Given the description of an element on the screen output the (x, y) to click on. 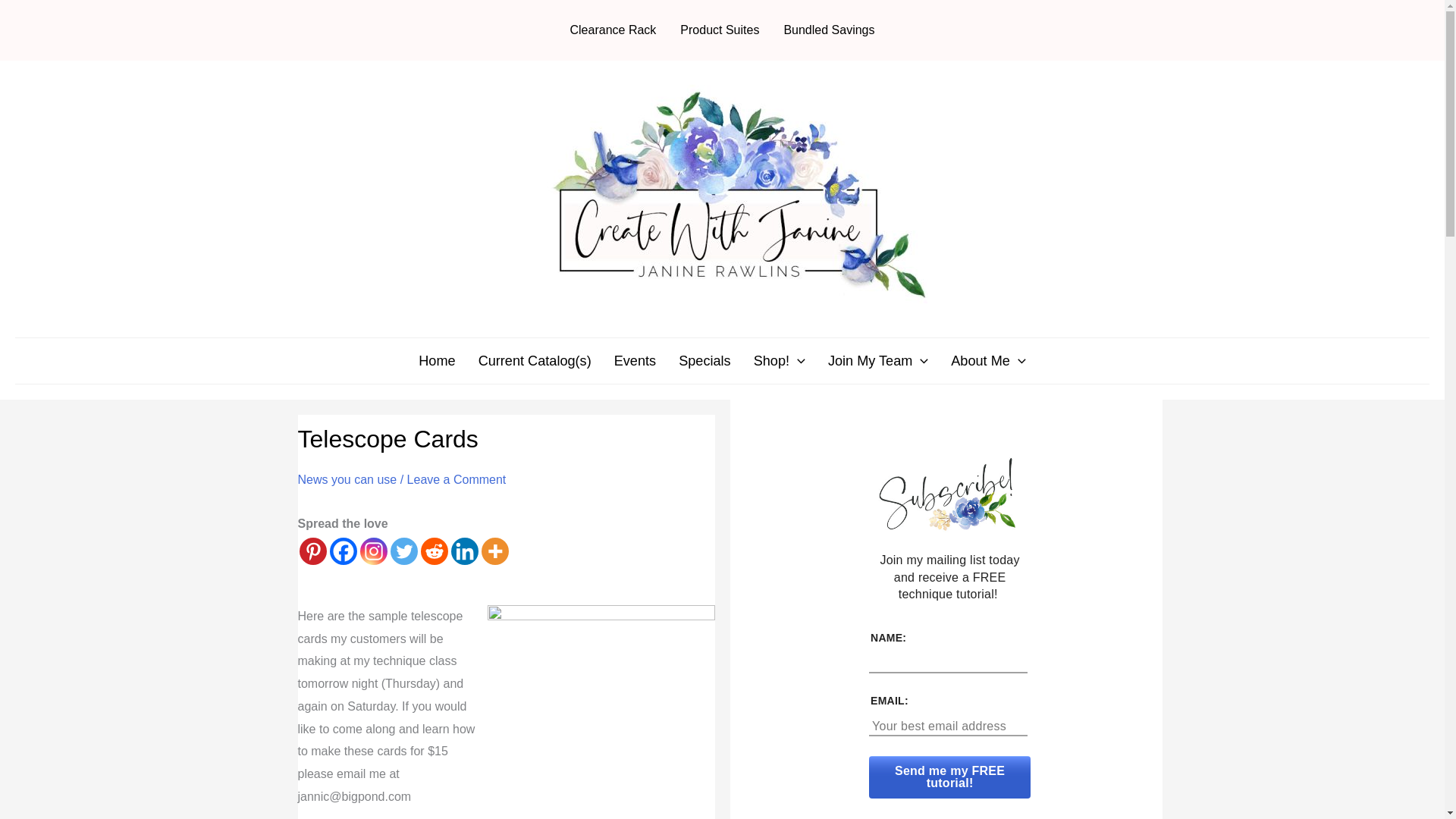
Bundled Savings (828, 30)
Reddit (433, 551)
Linkedin (463, 551)
Pinterest (312, 551)
Specials (704, 361)
Instagram (373, 551)
About Me (987, 361)
Product Suites (719, 30)
Send me my FREE tutorial! (949, 776)
Clearance Rack (612, 30)
Join My Team (877, 361)
Facebook (342, 551)
News you can use (346, 479)
Shop! (779, 361)
Events (634, 361)
